Given the description of an element on the screen output the (x, y) to click on. 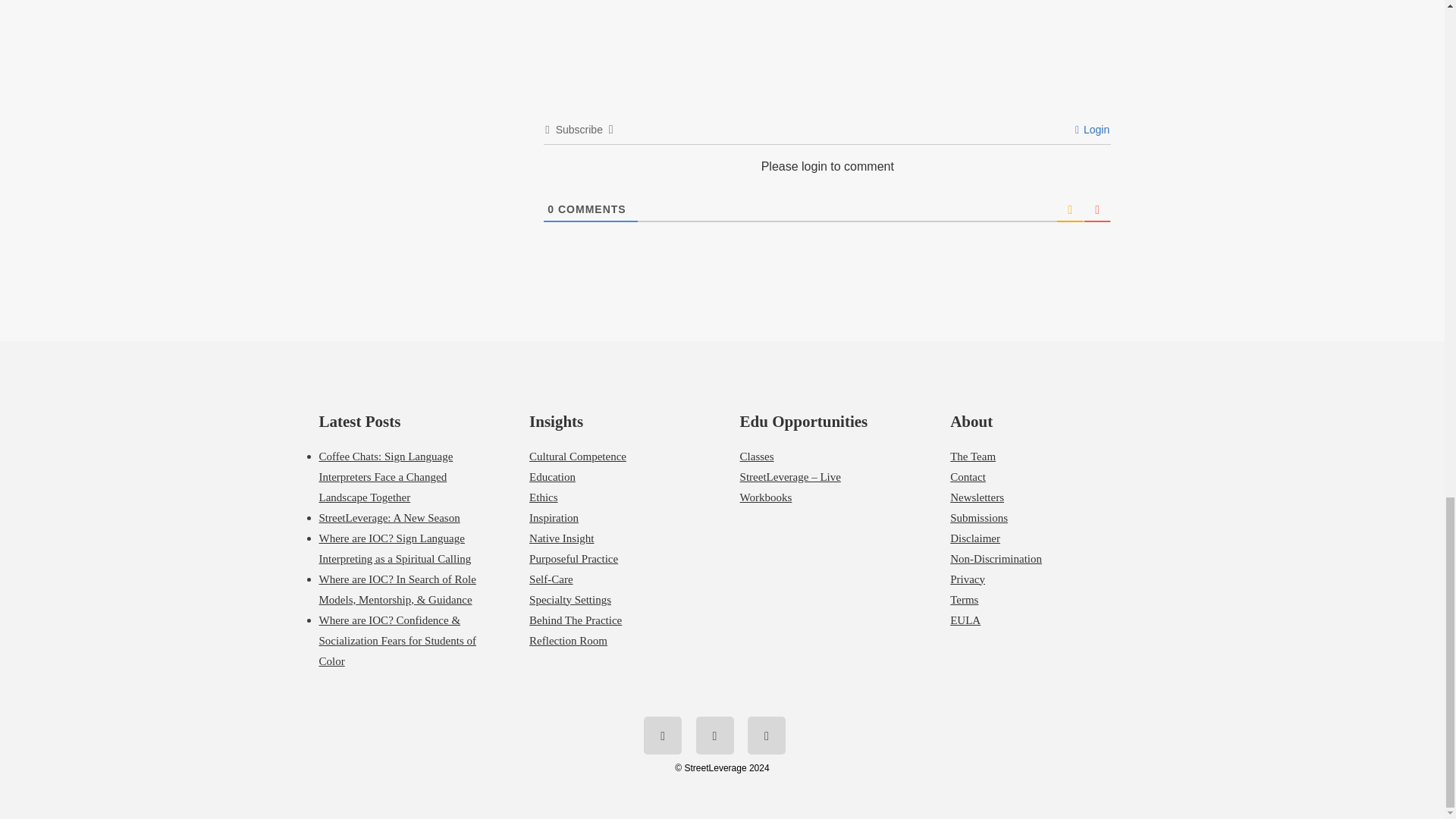
Ethics (543, 497)
StreetLeverage: A New Season (389, 517)
Inspiration (553, 517)
Education (552, 476)
Cultural Competence (577, 456)
Login (1092, 129)
